Given the description of an element on the screen output the (x, y) to click on. 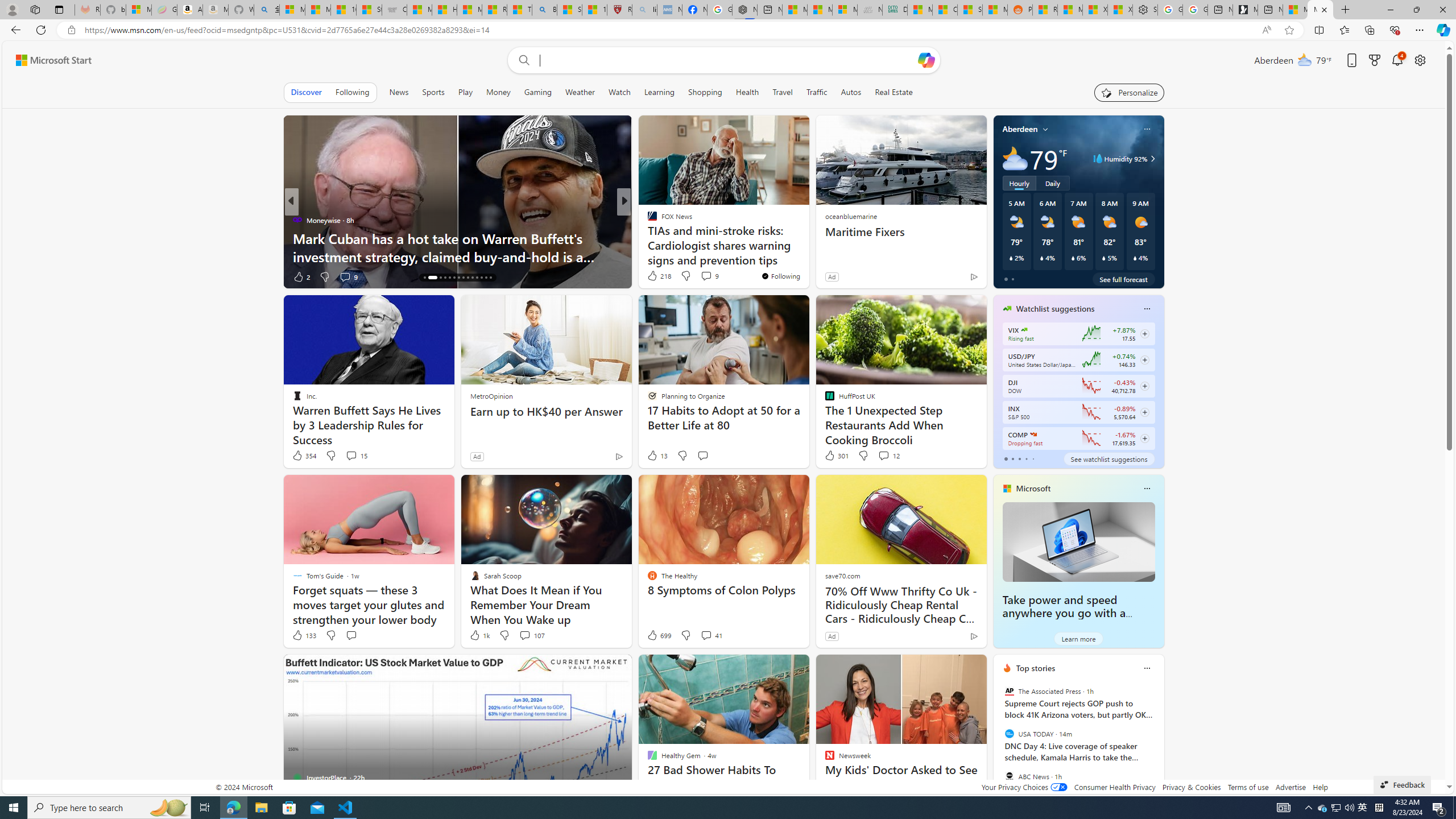
View comments 107 Comment (530, 634)
View comments 34 Comment (707, 276)
View comments 23 Comment (707, 276)
400 Like (654, 276)
See full forecast (1123, 278)
AutomationID: tab-25 (476, 277)
78 Like (652, 276)
